Given the description of an element on the screen output the (x, y) to click on. 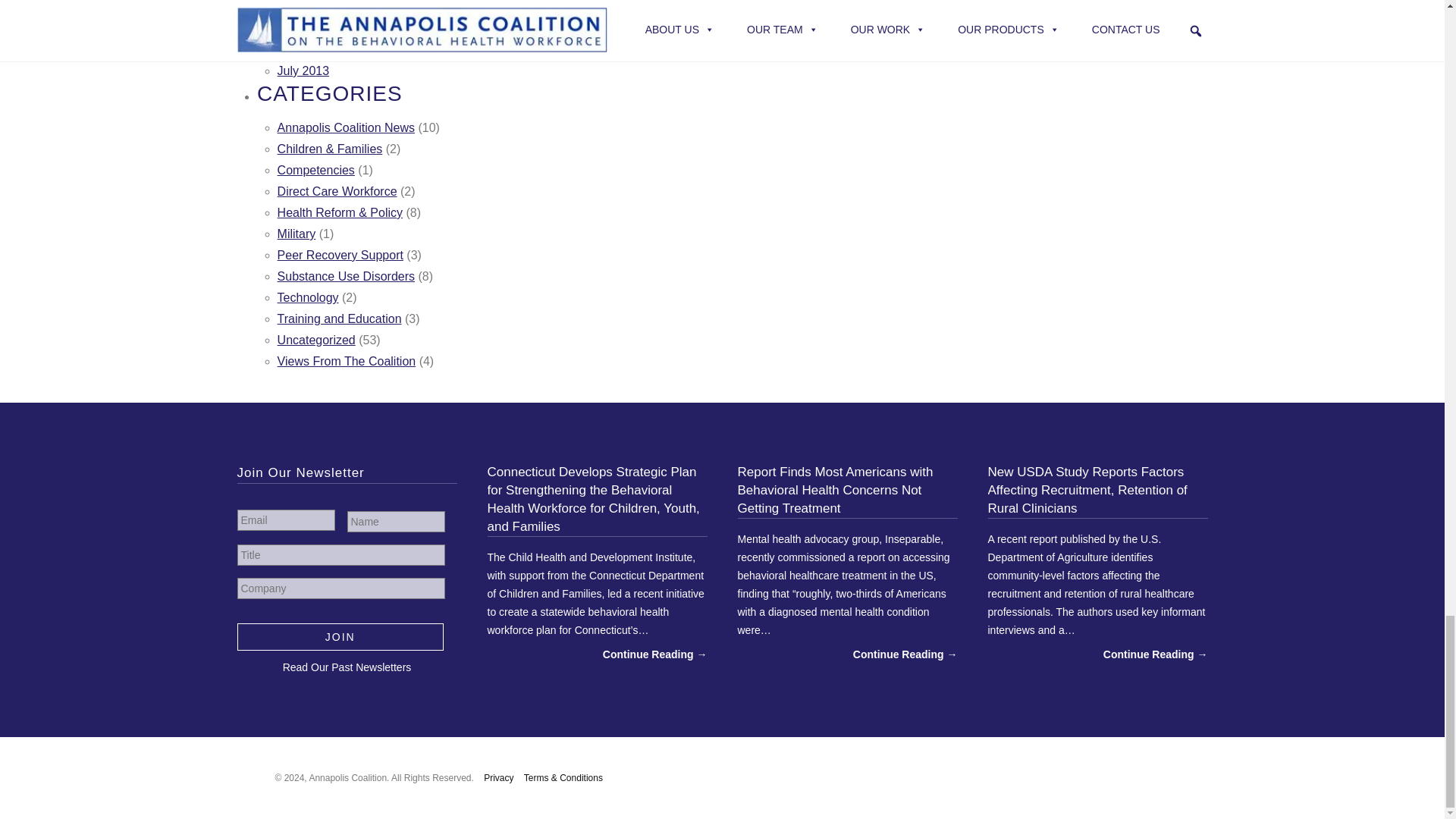
Join (339, 636)
